Given the description of an element on the screen output the (x, y) to click on. 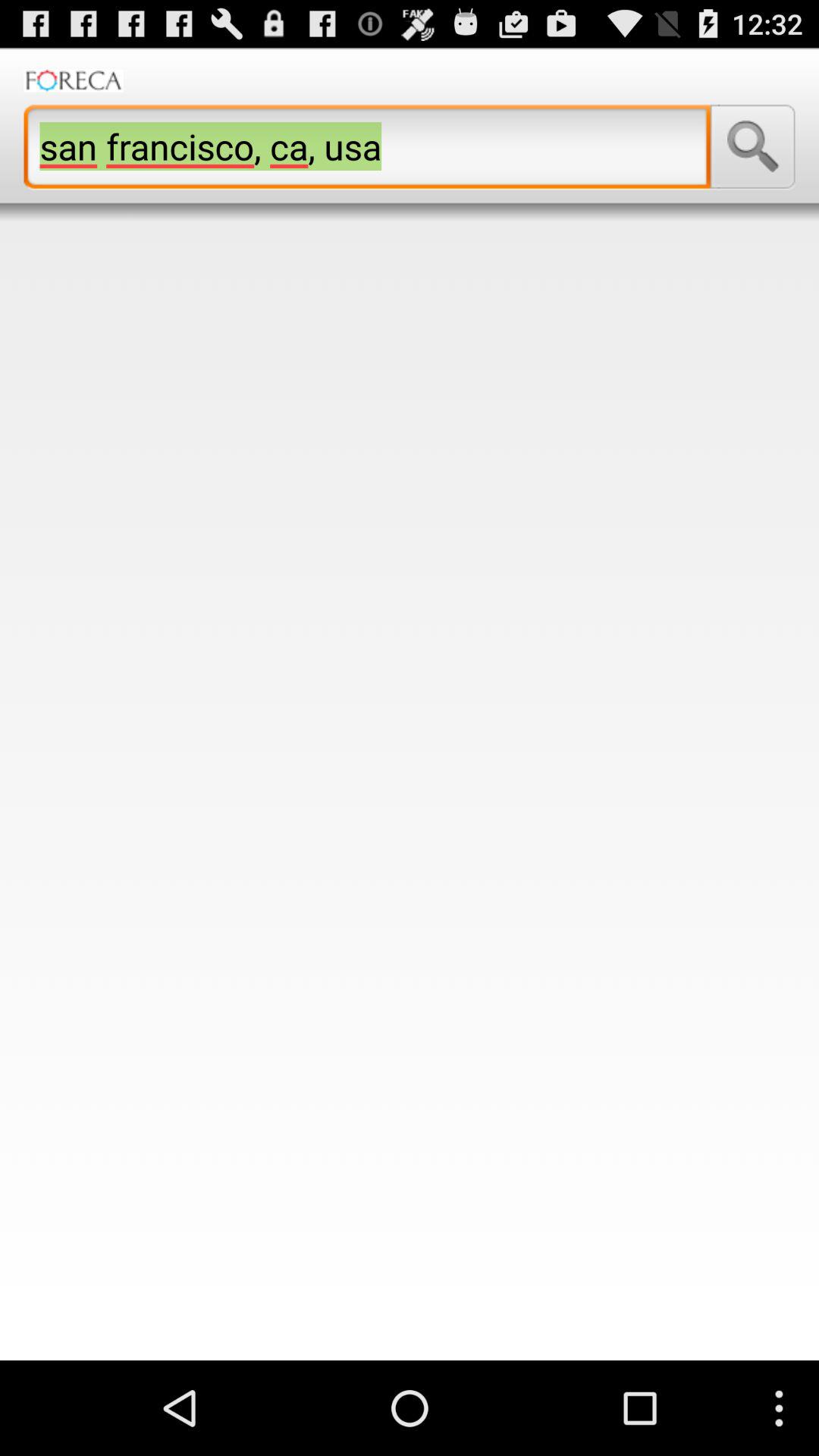
choose icon below san francisco ca item (409, 790)
